Given the description of an element on the screen output the (x, y) to click on. 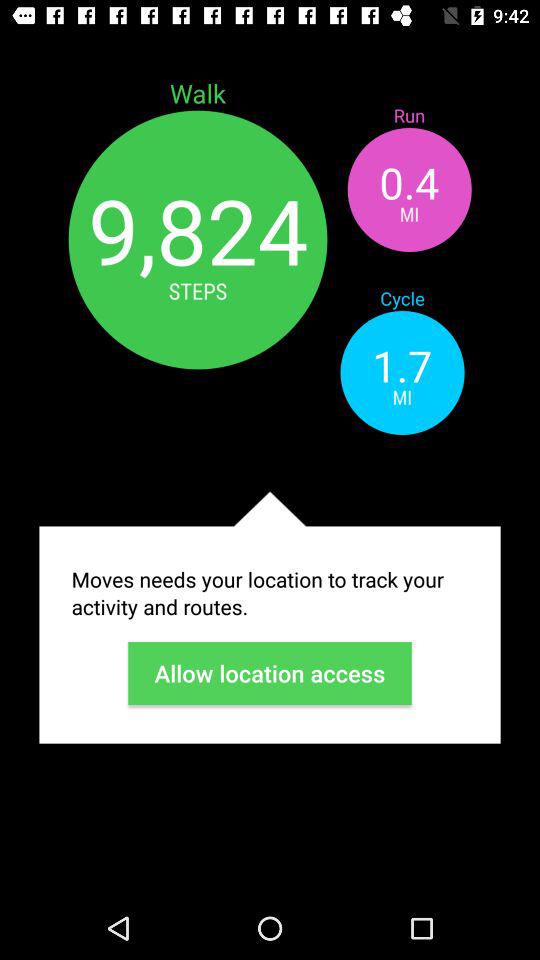
select icon above allow location access (269, 593)
